Given the description of an element on the screen output the (x, y) to click on. 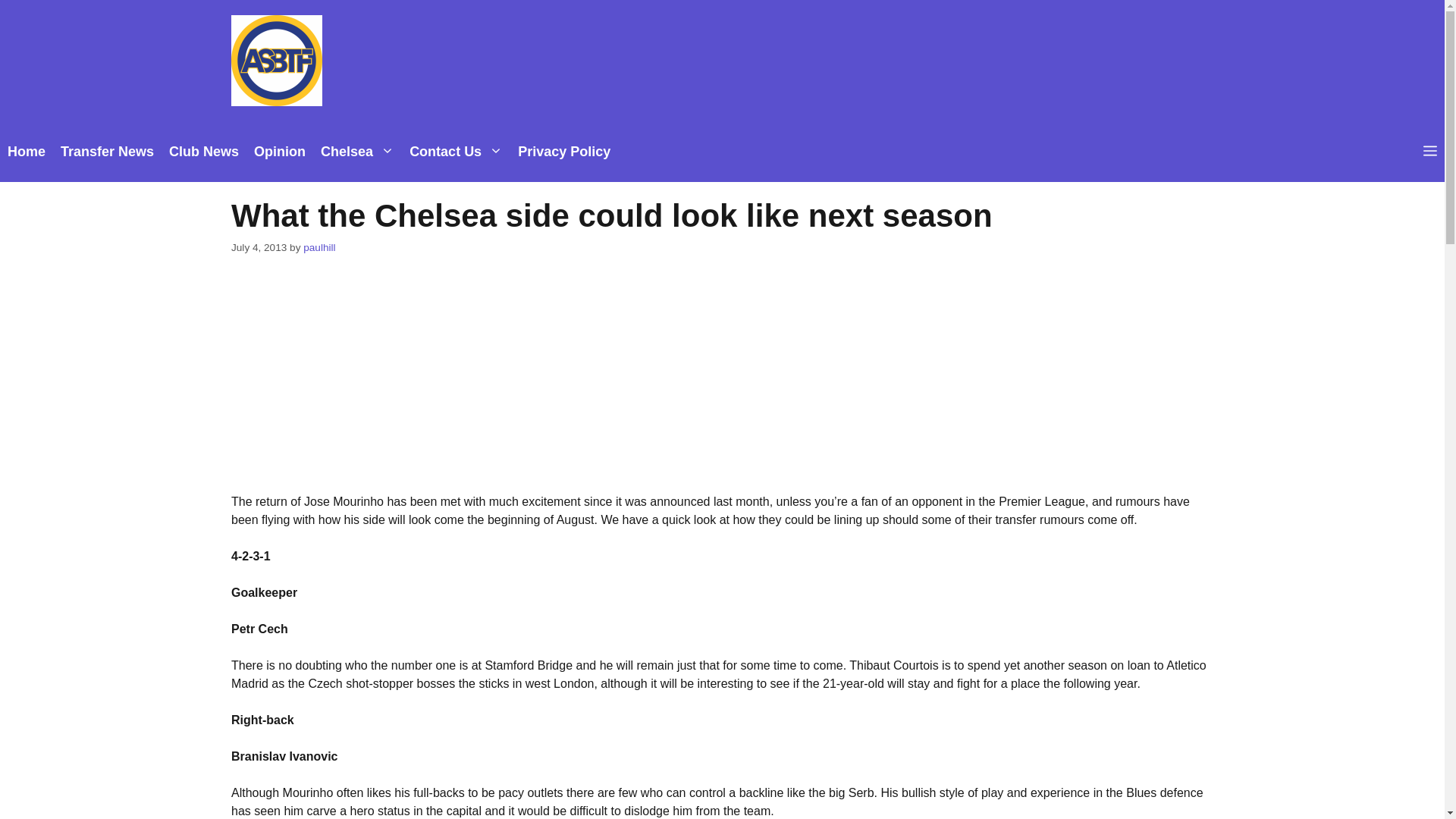
Chelsea (357, 151)
Opinion (279, 151)
View all posts by paulhill (318, 247)
Privacy Policy (564, 151)
Club News (203, 151)
paulhill (318, 247)
Contact Us (456, 151)
Transfer News (106, 151)
